Given the description of an element on the screen output the (x, y) to click on. 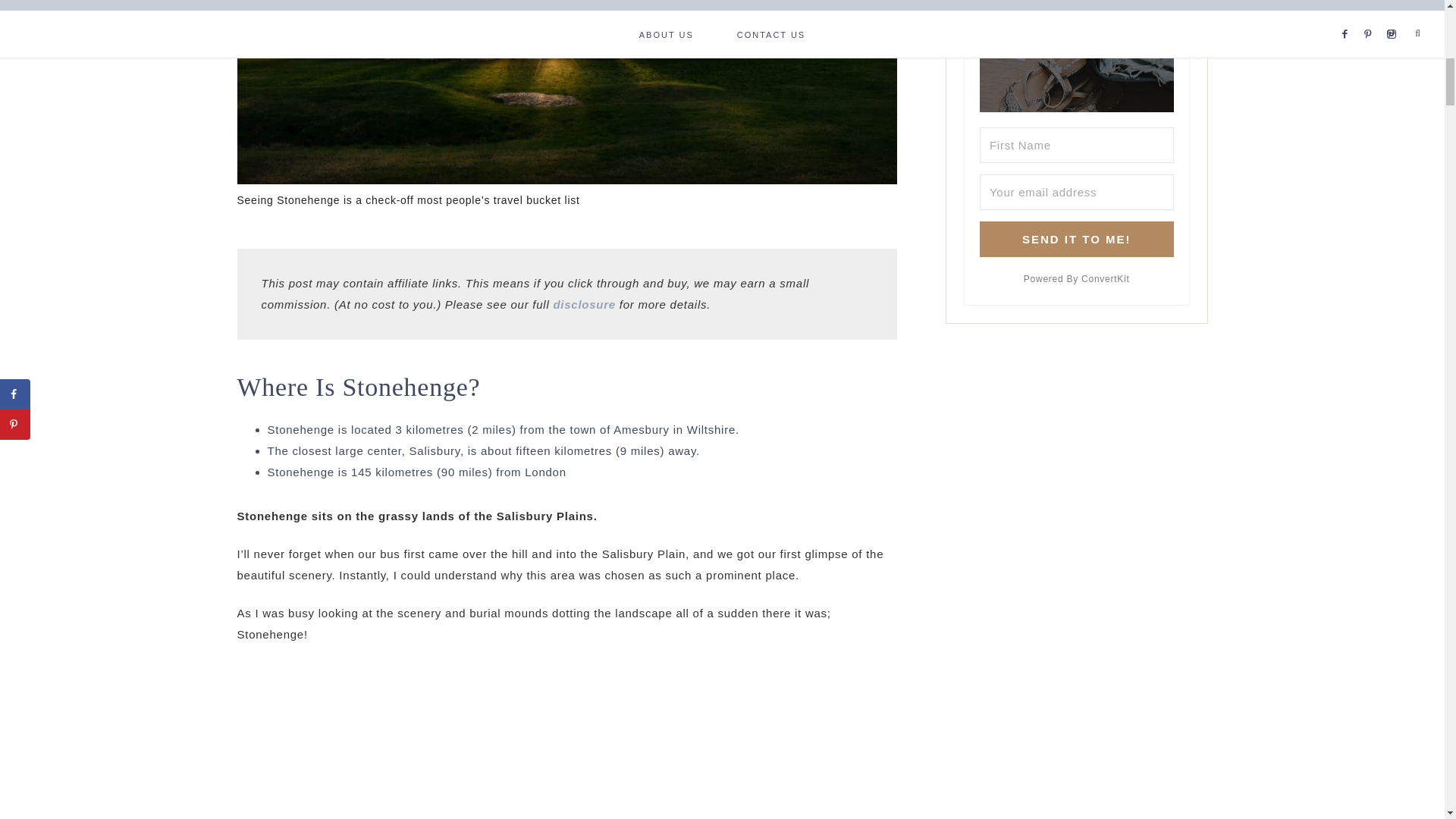
disclosure (584, 304)
